Given the description of an element on the screen output the (x, y) to click on. 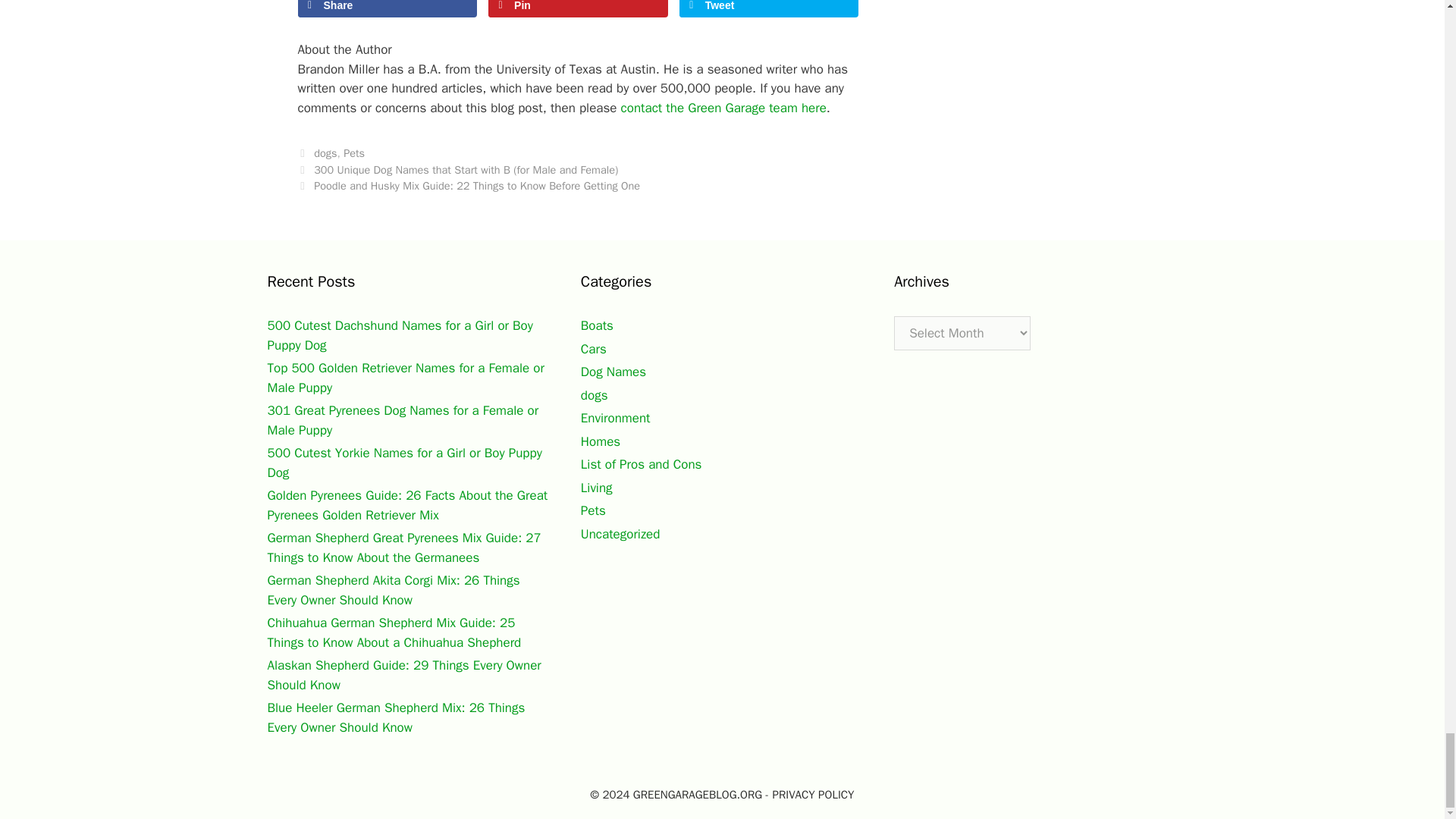
Previous (457, 169)
Alaskan Shepherd Guide: 29 Things Every Owner Should Know (403, 674)
dogs (325, 152)
Pin (577, 8)
contact the Green Garage team here (724, 107)
Next (468, 185)
